Given the description of an element on the screen output the (x, y) to click on. 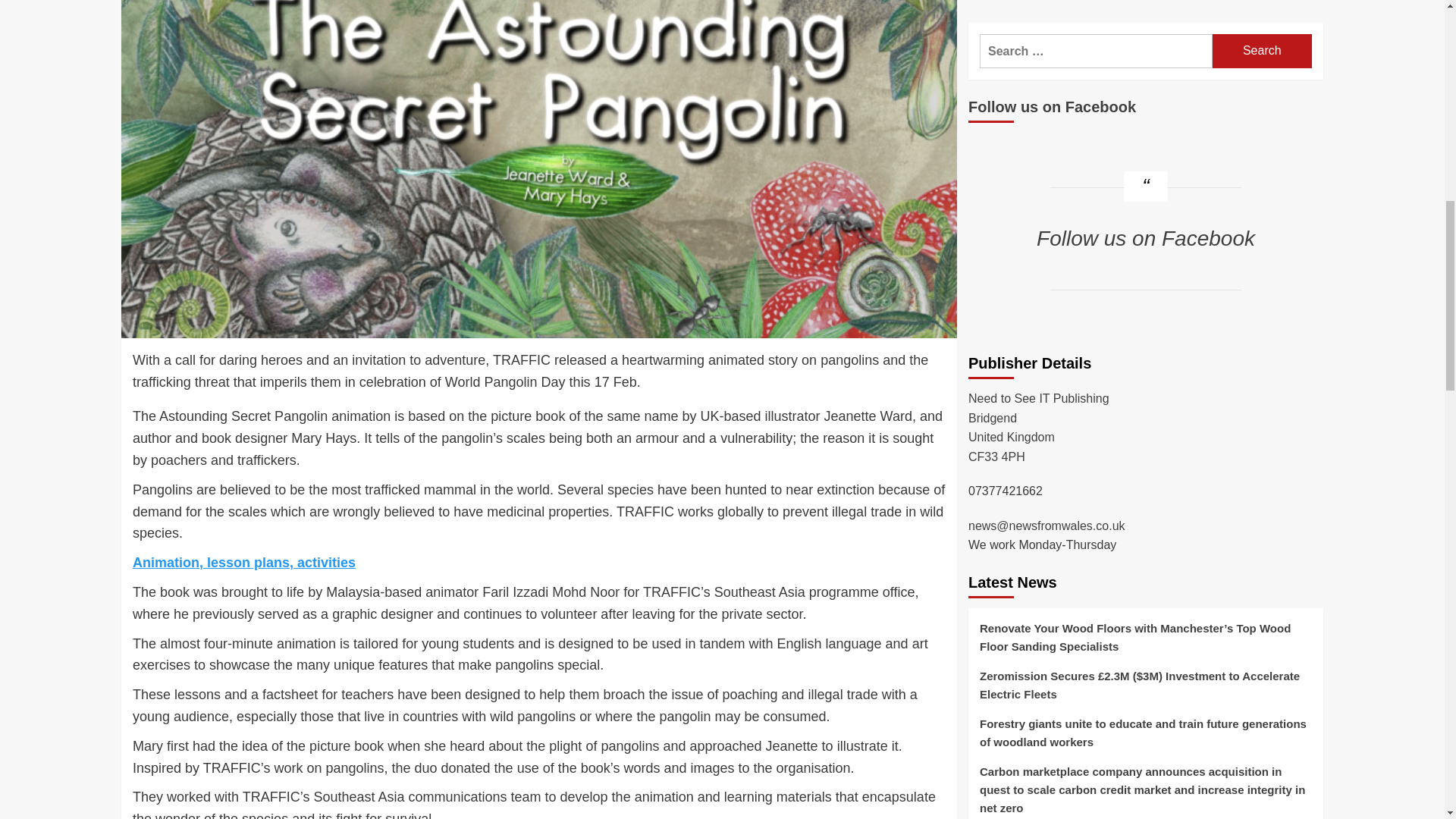
Animation, lesson plans, activities (243, 562)
